Given the description of an element on the screen output the (x, y) to click on. 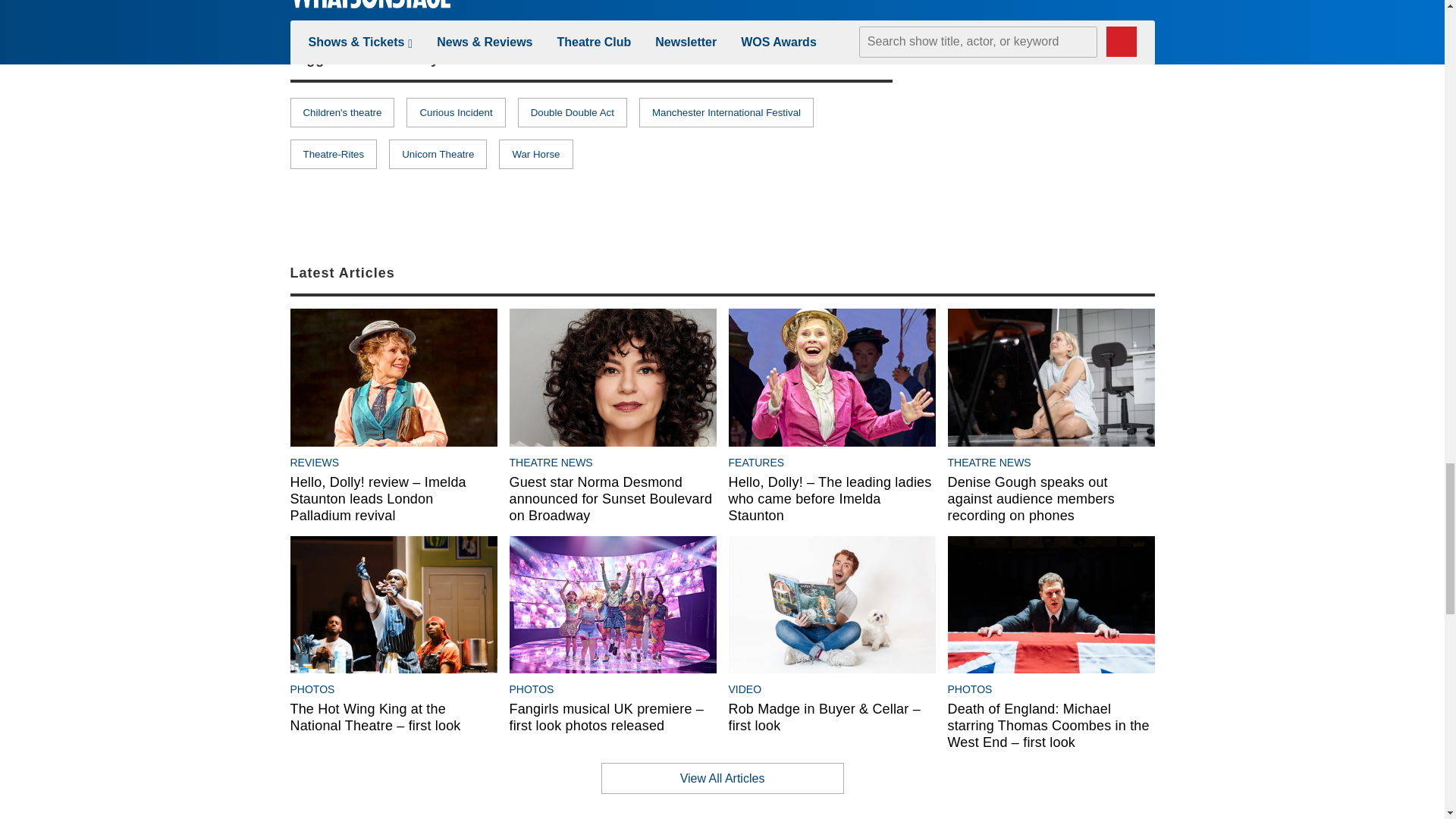
3rd party ad content (1040, 135)
